Given the description of an element on the screen output the (x, y) to click on. 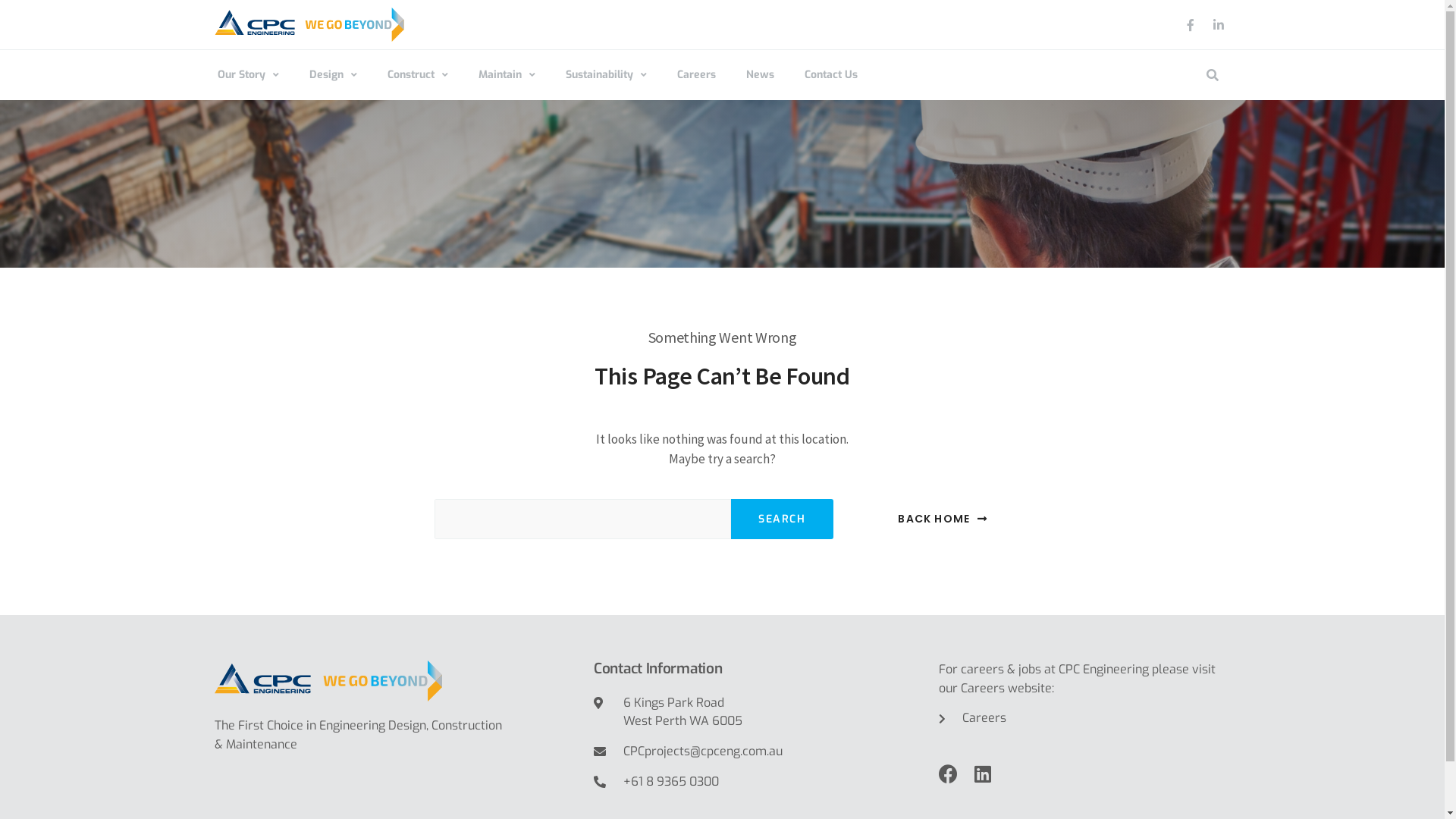
Careers Element type: text (695, 75)
+61 8 9365 0300 Element type: text (758, 781)
Construct Element type: text (416, 75)
Contact Us Element type: text (830, 75)
News Element type: text (760, 75)
Sustainability Element type: text (606, 75)
SEARCH Element type: text (782, 518)
Design Element type: text (333, 75)
Careers Element type: text (1084, 718)
6 Kings Park Road
West Perth WA 6005 Element type: text (758, 712)
Our Story Element type: text (247, 75)
Maintain Element type: text (505, 75)
CPCprojects@cpceng.com.au Element type: text (758, 751)
BACK HOME Element type: text (942, 518)
